Given the description of an element on the screen output the (x, y) to click on. 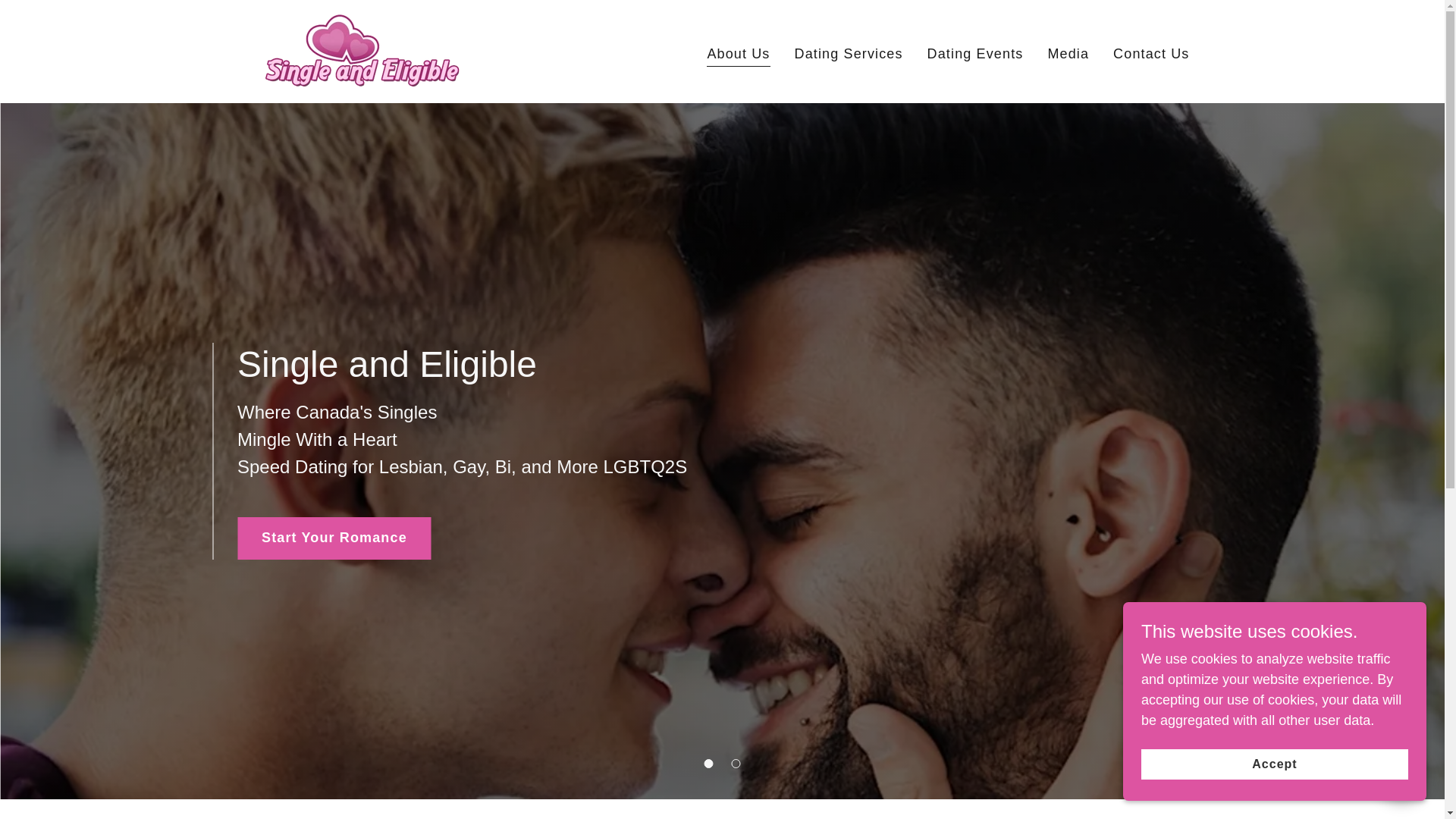
Media (1067, 52)
Dating Events (975, 52)
Accept (1274, 764)
Dating Services (848, 52)
Single and Eligible (359, 50)
About Us (738, 55)
Contact Us (1150, 52)
Start Your Romance (333, 537)
